Given the description of an element on the screen output the (x, y) to click on. 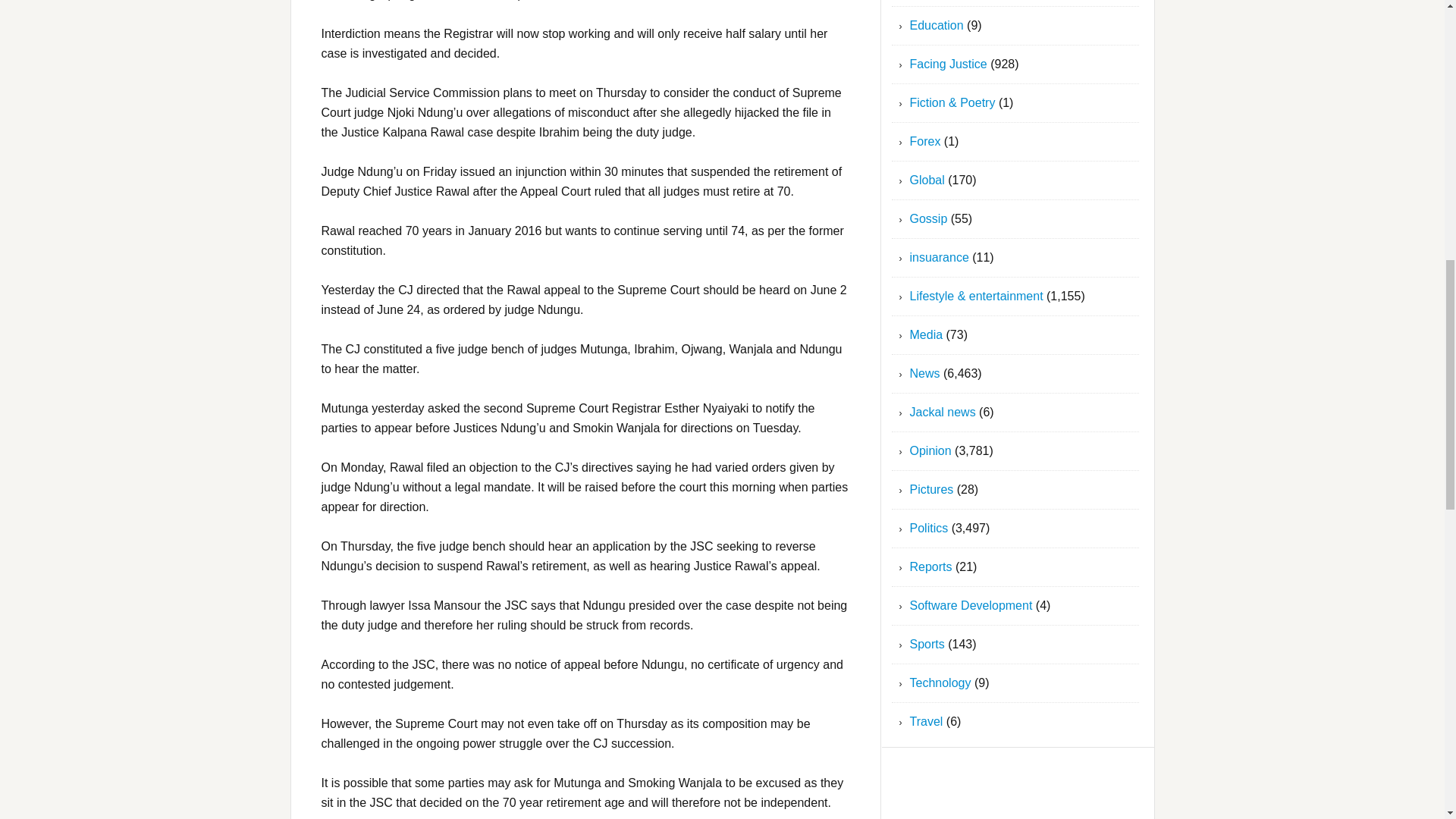
Reports (931, 566)
Global (927, 179)
Pictures (931, 489)
Gossip (928, 218)
insuarance (939, 256)
Jackal news (942, 411)
Opinion (931, 450)
News (925, 373)
Media (926, 334)
Politics (929, 527)
